Given the description of an element on the screen output the (x, y) to click on. 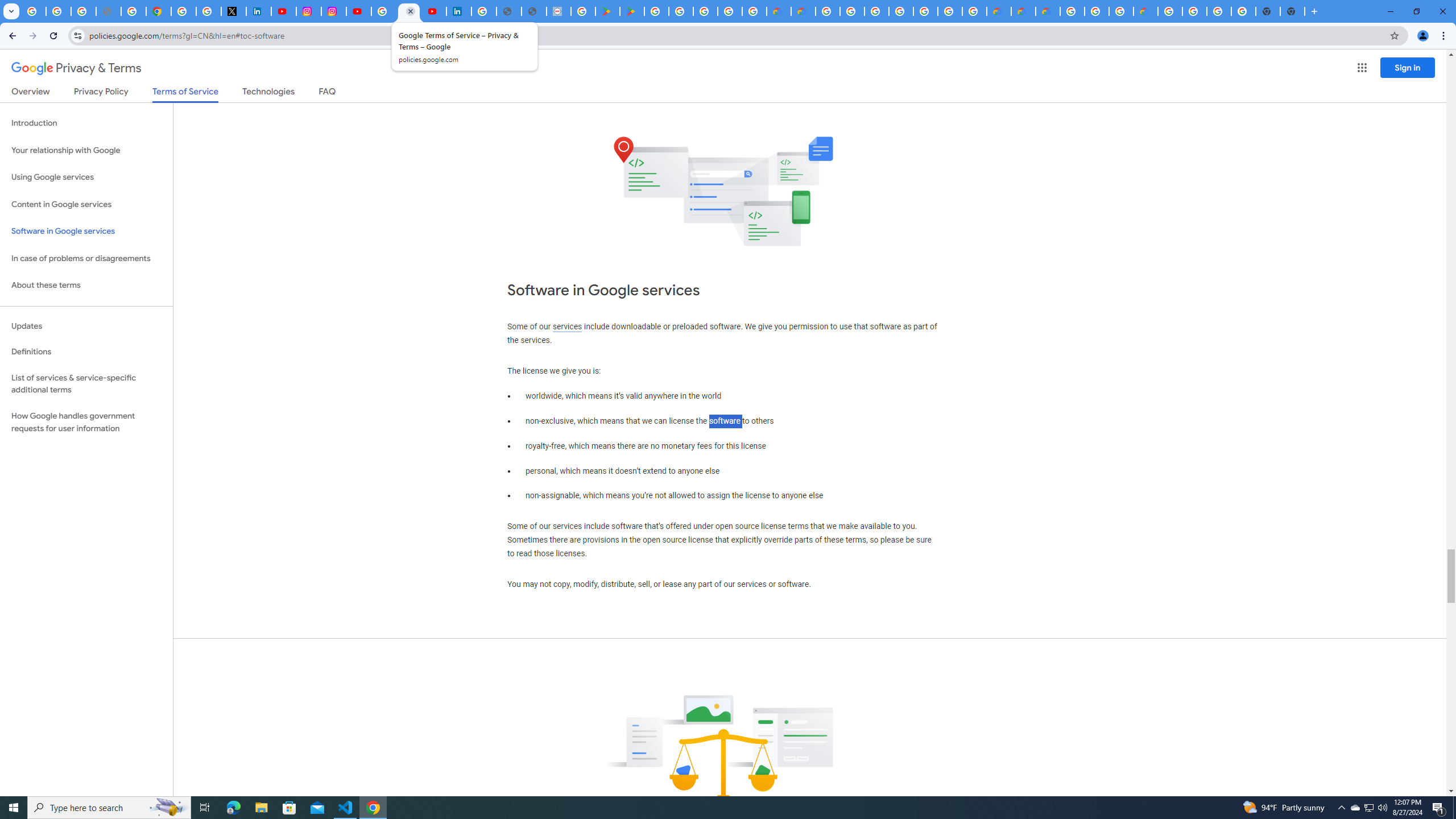
Data Privacy Framework (558, 11)
Sign in - Google Accounts (383, 11)
Using Google services (86, 176)
New Tab (1292, 11)
support.google.com - Network error (108, 11)
Google Cloud Pricing Calculator (1023, 11)
Browse Chrome as a guest - Computer - Google Chrome Help (1095, 11)
